Given the description of an element on the screen output the (x, y) to click on. 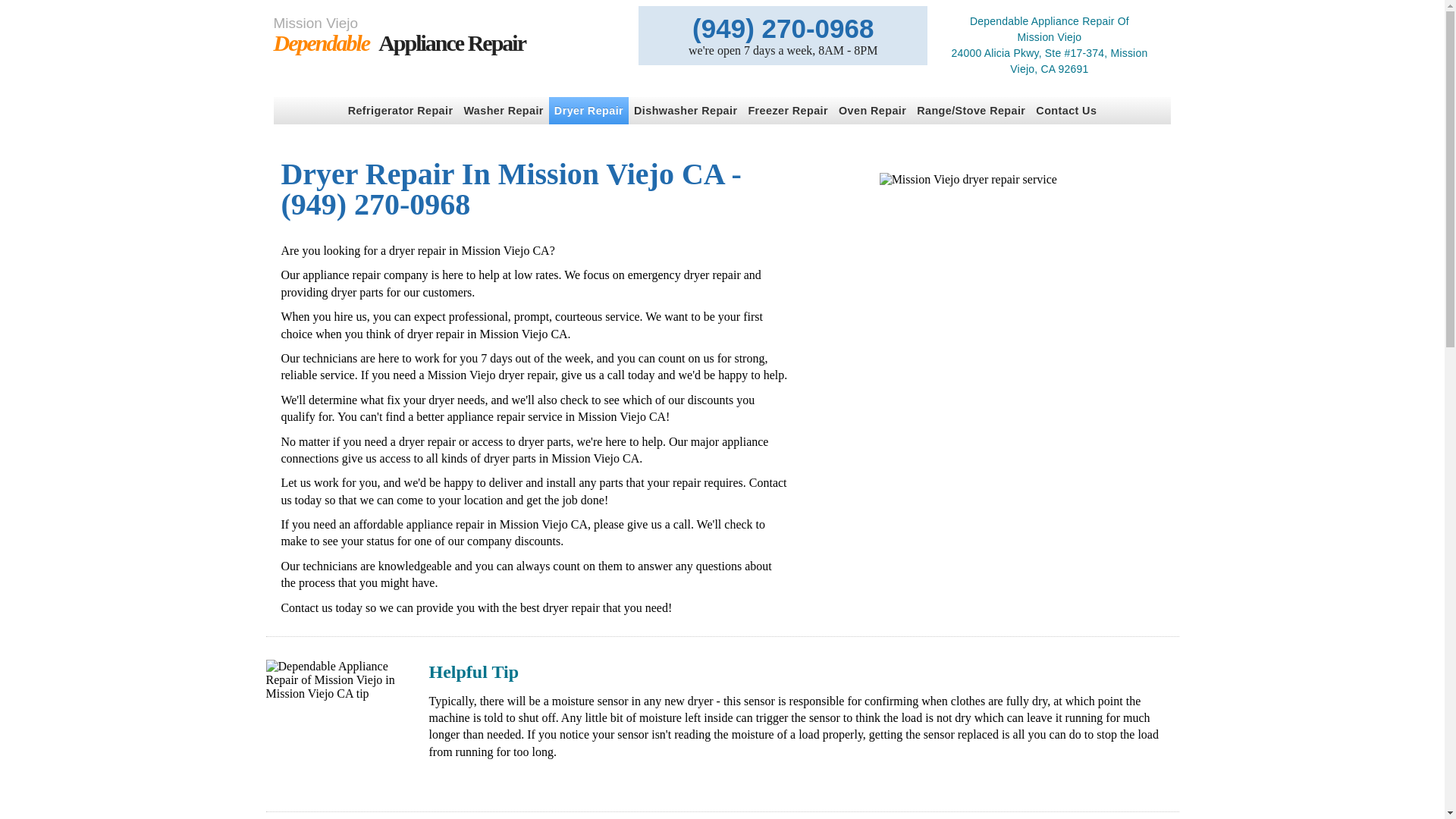
Dryer repair in Mission Viejo, CA (588, 110)
Washer repair in Mission Viejo, CA (447, 34)
Oven Repair (503, 110)
Refrigerator Repair (871, 110)
Freezer repair in Mission Viejo, CA (400, 110)
Freezer Repair (787, 110)
Dishwasher repair in Mission Viejo, CA (787, 110)
Mission Viejo dryer repair service (685, 110)
Homepage (992, 314)
Dryer Repair (447, 34)
Oven repair in Mission Viejo, CA (588, 110)
Dishwasher Repair (871, 110)
Refrigerator repair in Mission Viejo, CA (685, 110)
Contact Us in Mission Viejo, CA (400, 110)
